Given the description of an element on the screen output the (x, y) to click on. 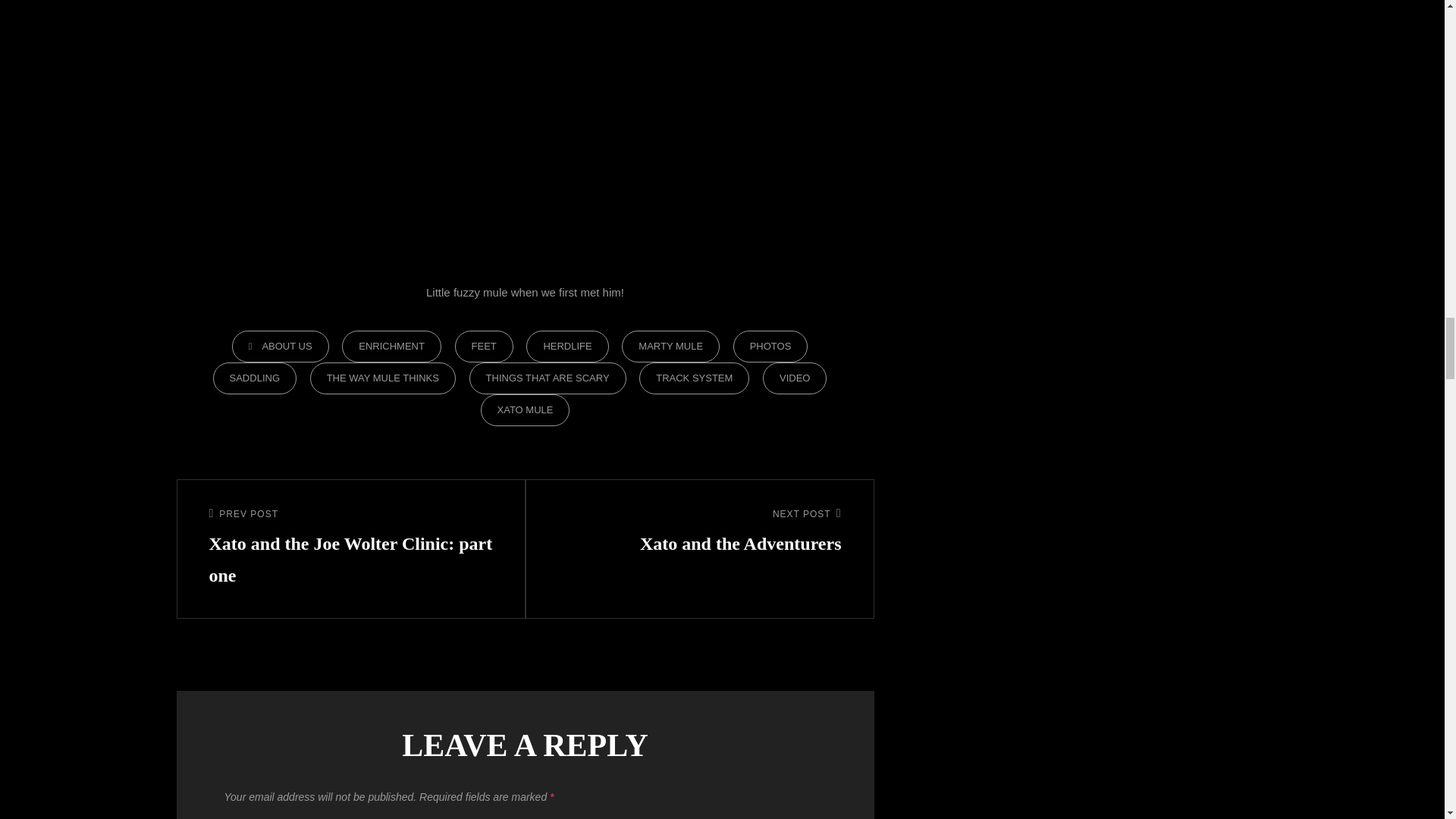
PHOTOS (770, 346)
ABOUT US (280, 346)
THE WAY MULE THINKS (382, 377)
FEET (483, 346)
TRACK SYSTEM (694, 377)
SADDLING (254, 377)
THINGS THAT ARE SCARY (699, 532)
MARTY MULE (547, 377)
VIDEO (670, 346)
ENRICHMENT (794, 377)
HERDLIFE (391, 346)
XATO MULE (566, 346)
